Given the description of an element on the screen output the (x, y) to click on. 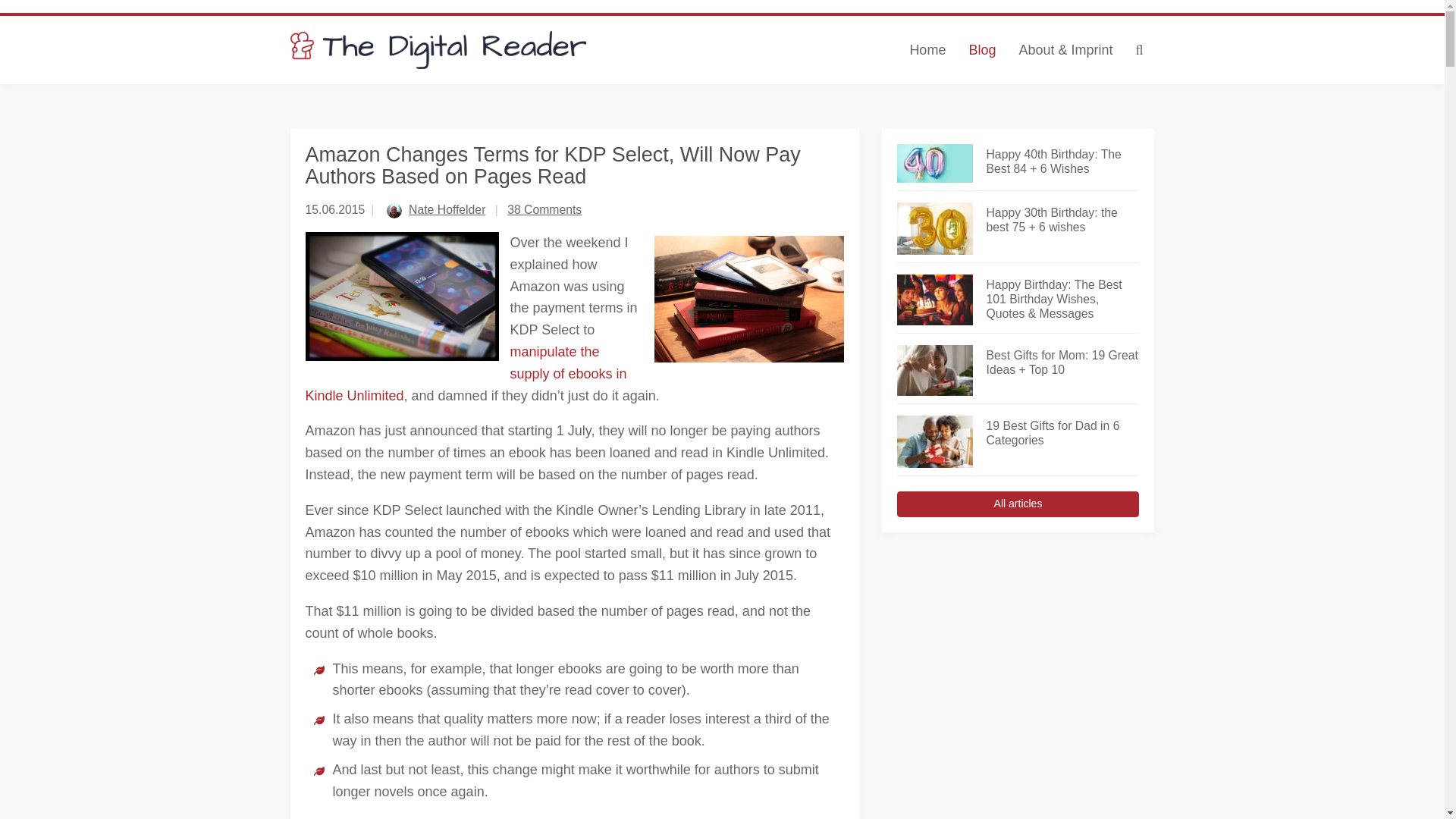
manipulate the supply of ebooks in Kindle Unlimited (465, 373)
38 Comments (543, 209)
Blog (981, 49)
The Digital Reader (437, 49)
Nate Hoffelder (446, 209)
Home (927, 49)
